Given the description of an element on the screen output the (x, y) to click on. 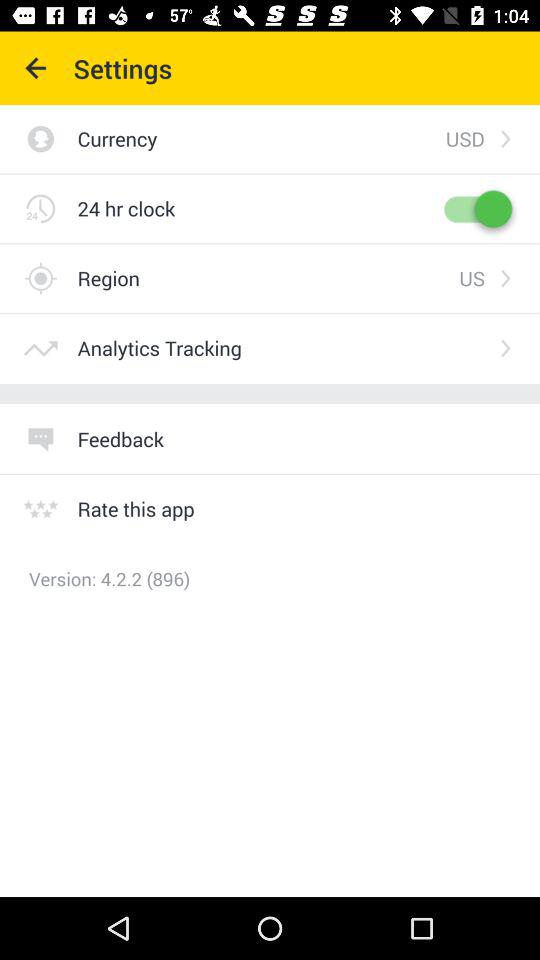
launch the item to the right of the currency item (464, 138)
